Given the description of an element on the screen output the (x, y) to click on. 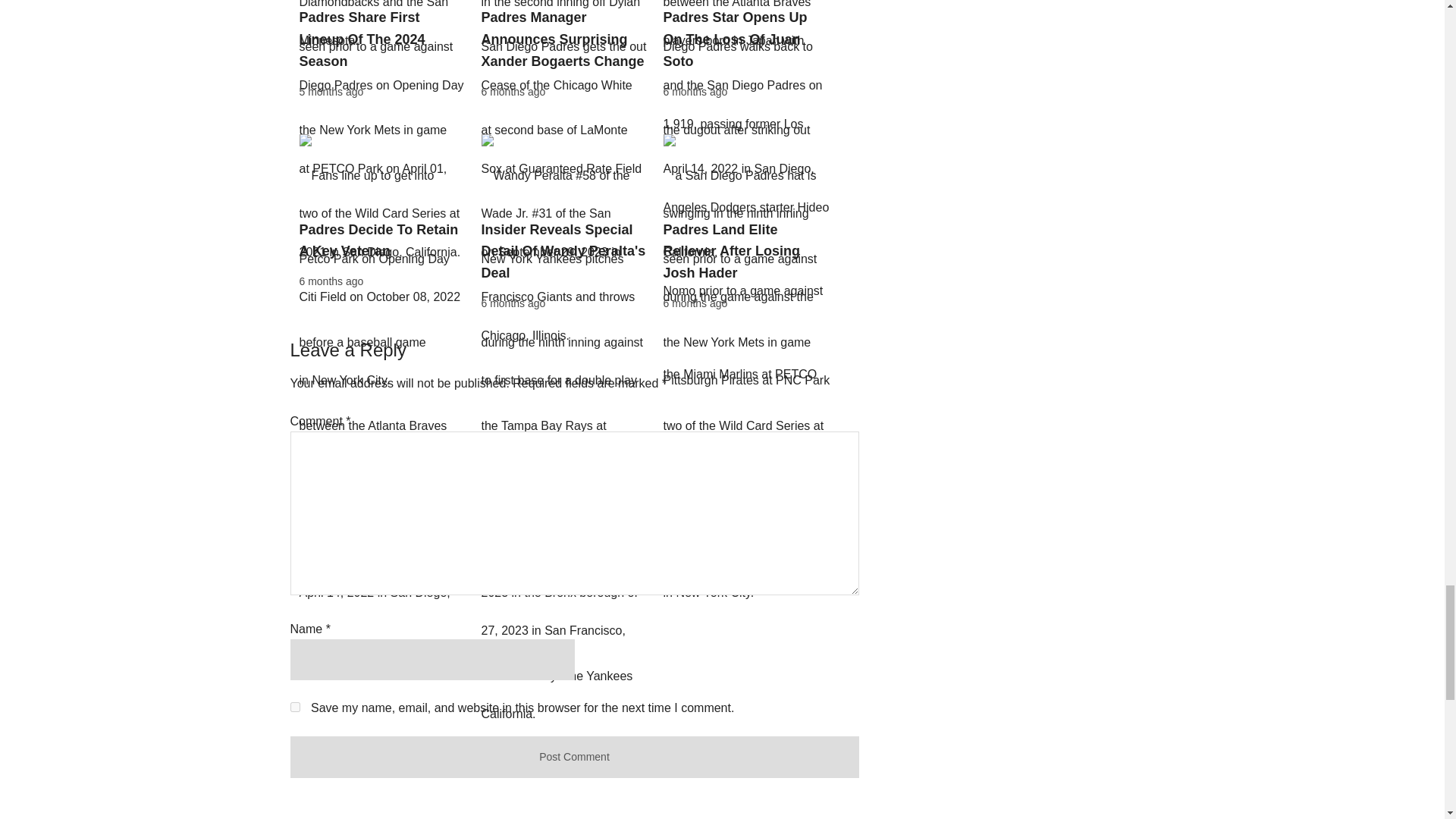
yes (294, 706)
Post Comment (574, 757)
